Given the description of an element on the screen output the (x, y) to click on. 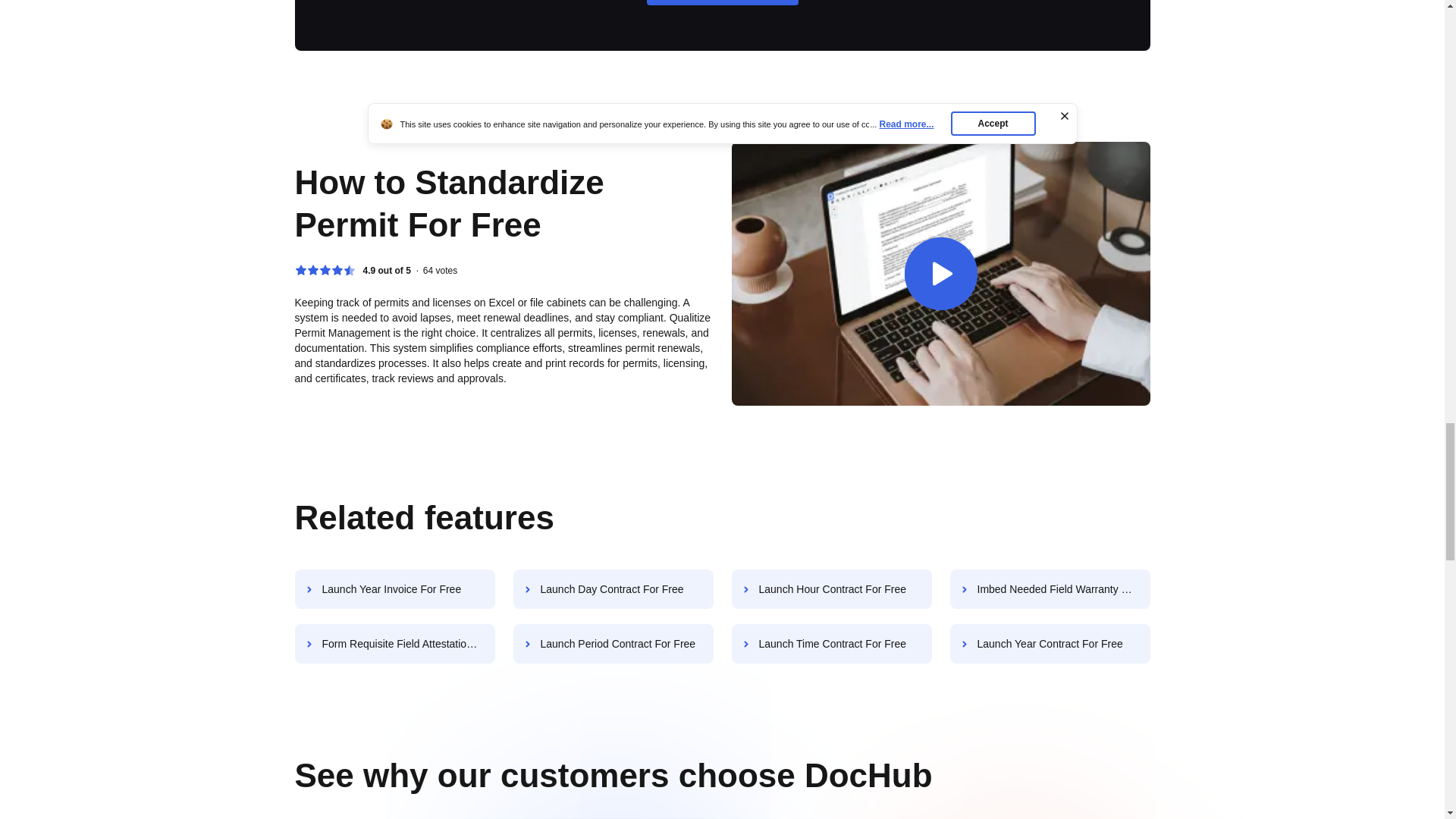
Launch Year Invoice For Free (394, 589)
Launch Hour Contract For Free (830, 589)
Launch Period Contract For Free (612, 643)
Launch Day Contract For Free (612, 589)
Launch Year Contract For Free (1049, 643)
Launch Time Contract For Free (830, 643)
Imbed Needed Field Warranty For Free (1049, 589)
Install now (721, 2)
Form Requisite Field Attestation For Free (394, 643)
